Given the description of an element on the screen output the (x, y) to click on. 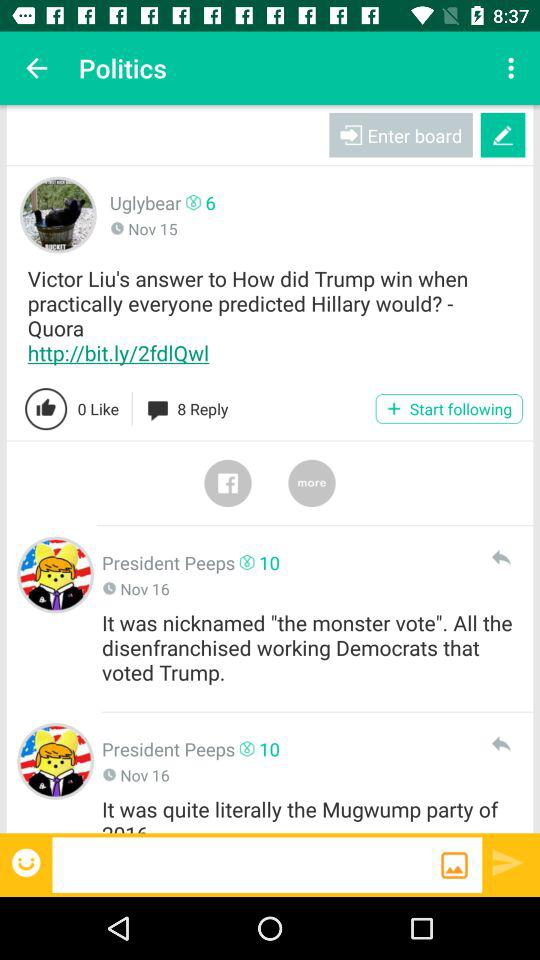
send (500, 557)
